Given the description of an element on the screen output the (x, y) to click on. 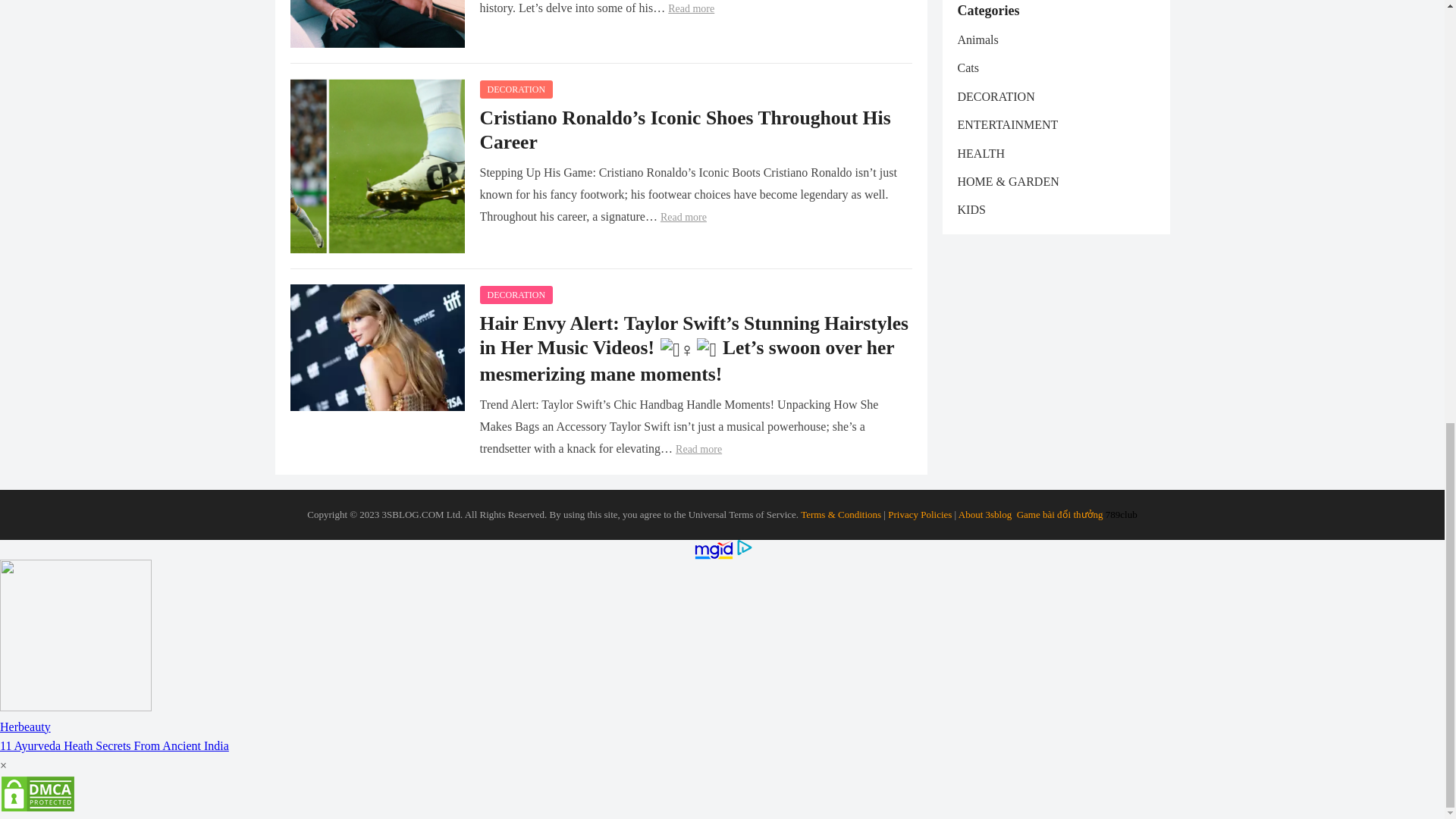
Read more (691, 8)
Read more (683, 216)
DMCA.com Protection Status (37, 808)
DECORATION (516, 89)
